Given the description of an element on the screen output the (x, y) to click on. 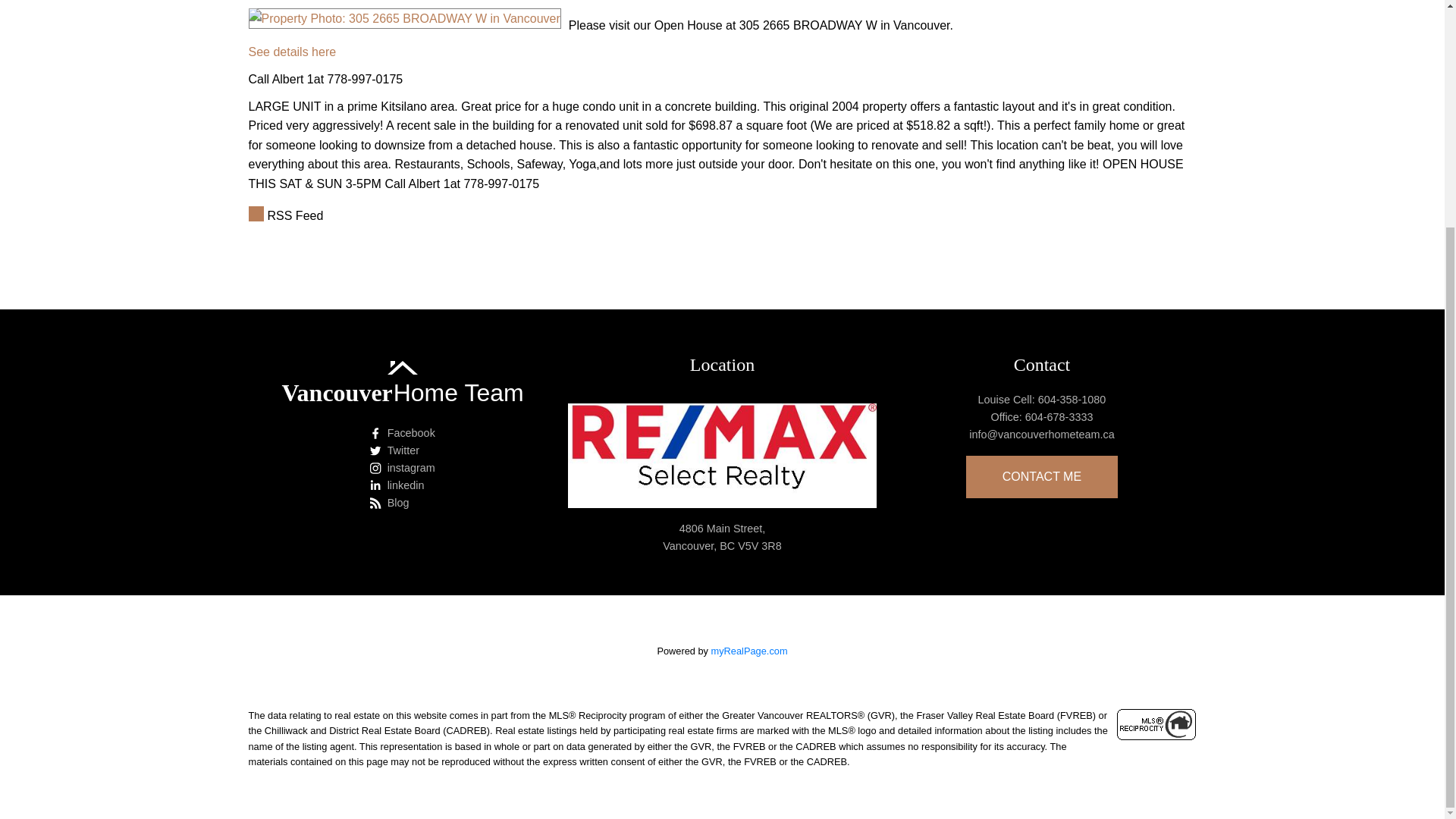
linkedin (402, 485)
Facebook (402, 433)
Office: 604-678-3333 (1040, 416)
Twitter (402, 450)
CONTACT ME (1042, 476)
myRealPage.com (749, 650)
Louise Cell: 604-358-1080 (1040, 399)
Blog (402, 502)
RSS (722, 216)
See details here (292, 51)
